Given the description of an element on the screen output the (x, y) to click on. 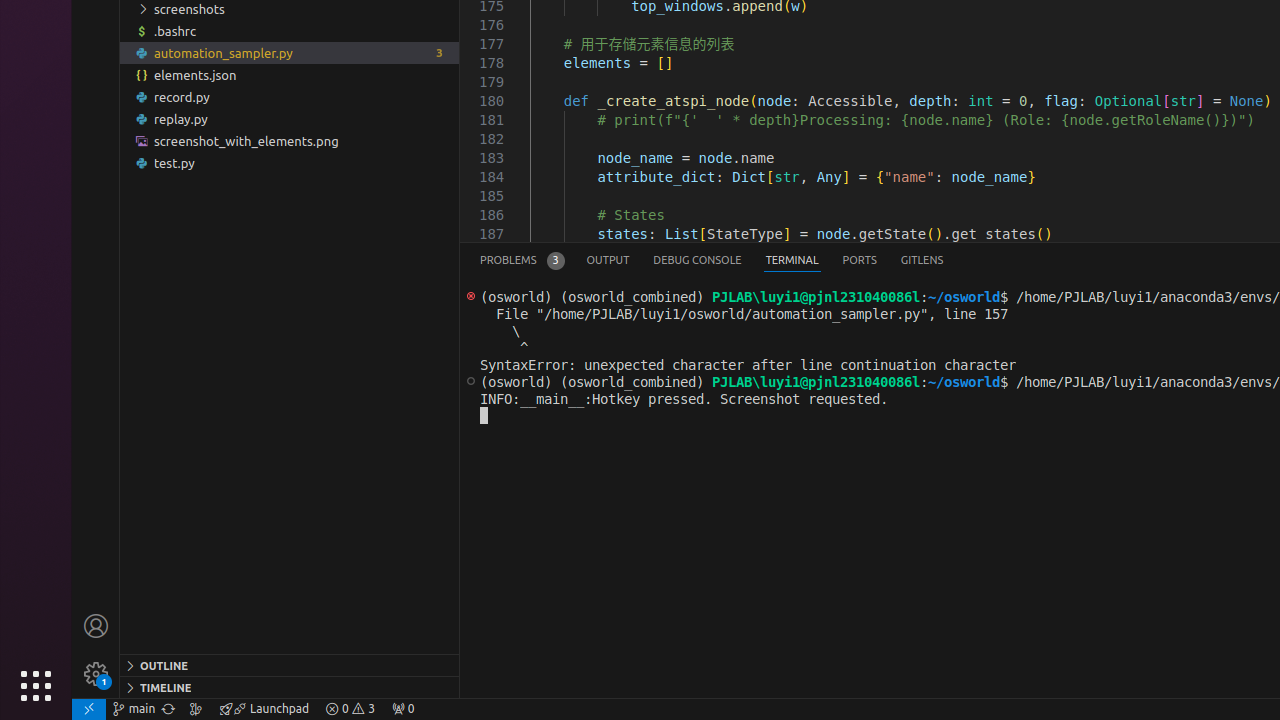
record.py Element type: tree-item (289, 97)
automation_sampler.py Element type: tree-item (289, 53)
Timeline Section Element type: push-button (289, 687)
Terminal (Ctrl+`) Element type: page-tab (792, 260)
Output (Ctrl+K Ctrl+H) Element type: page-tab (608, 260)
